Given the description of an element on the screen output the (x, y) to click on. 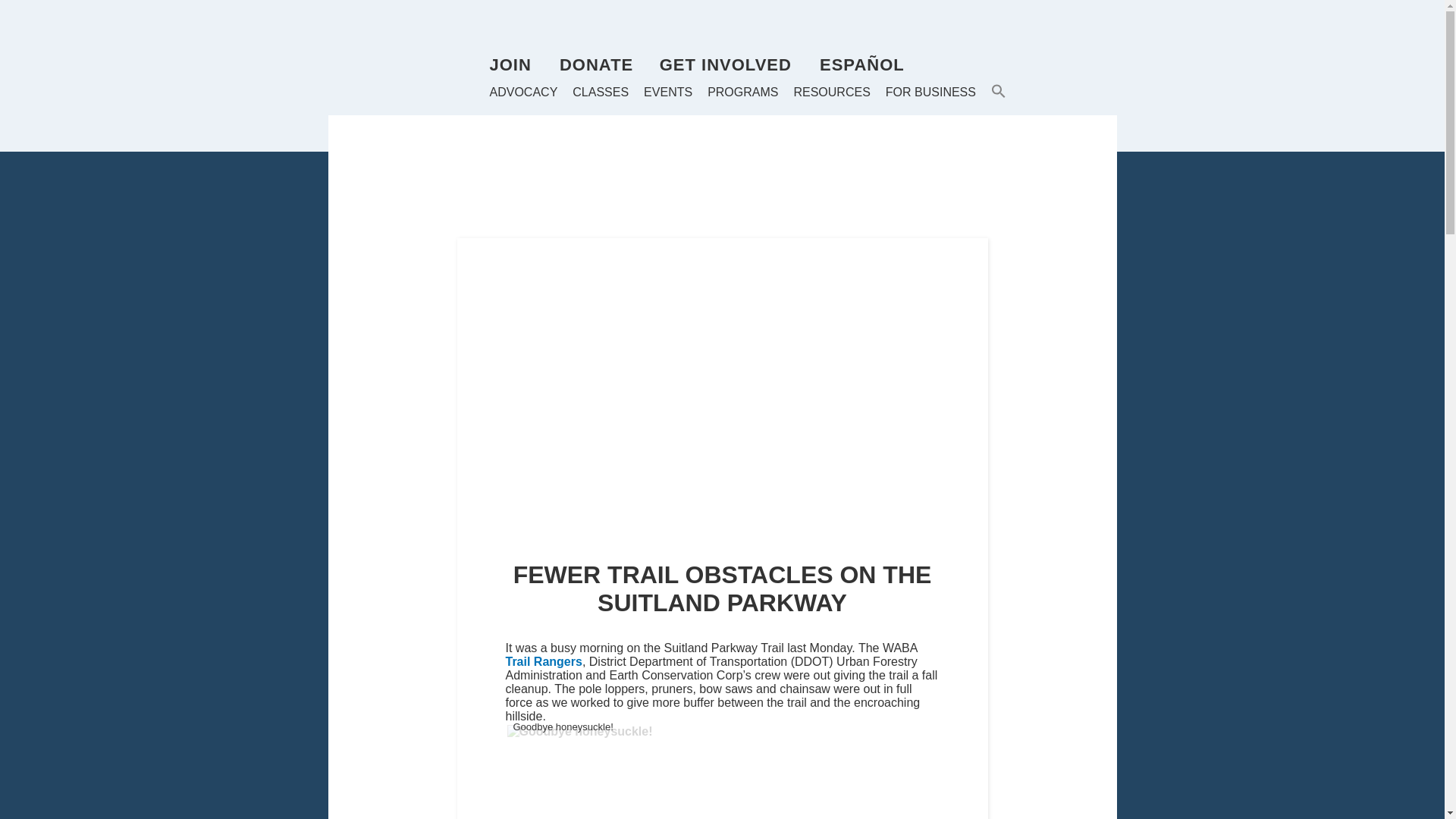
WABA Homepage (408, 71)
RESOURCES (831, 92)
DONATE (596, 64)
ADVOCACY (523, 92)
EVENTS (668, 92)
CLASSES (600, 92)
JOIN (510, 64)
PROGRAMS (742, 92)
GET INVOLVED (725, 64)
